Given the description of an element on the screen output the (x, y) to click on. 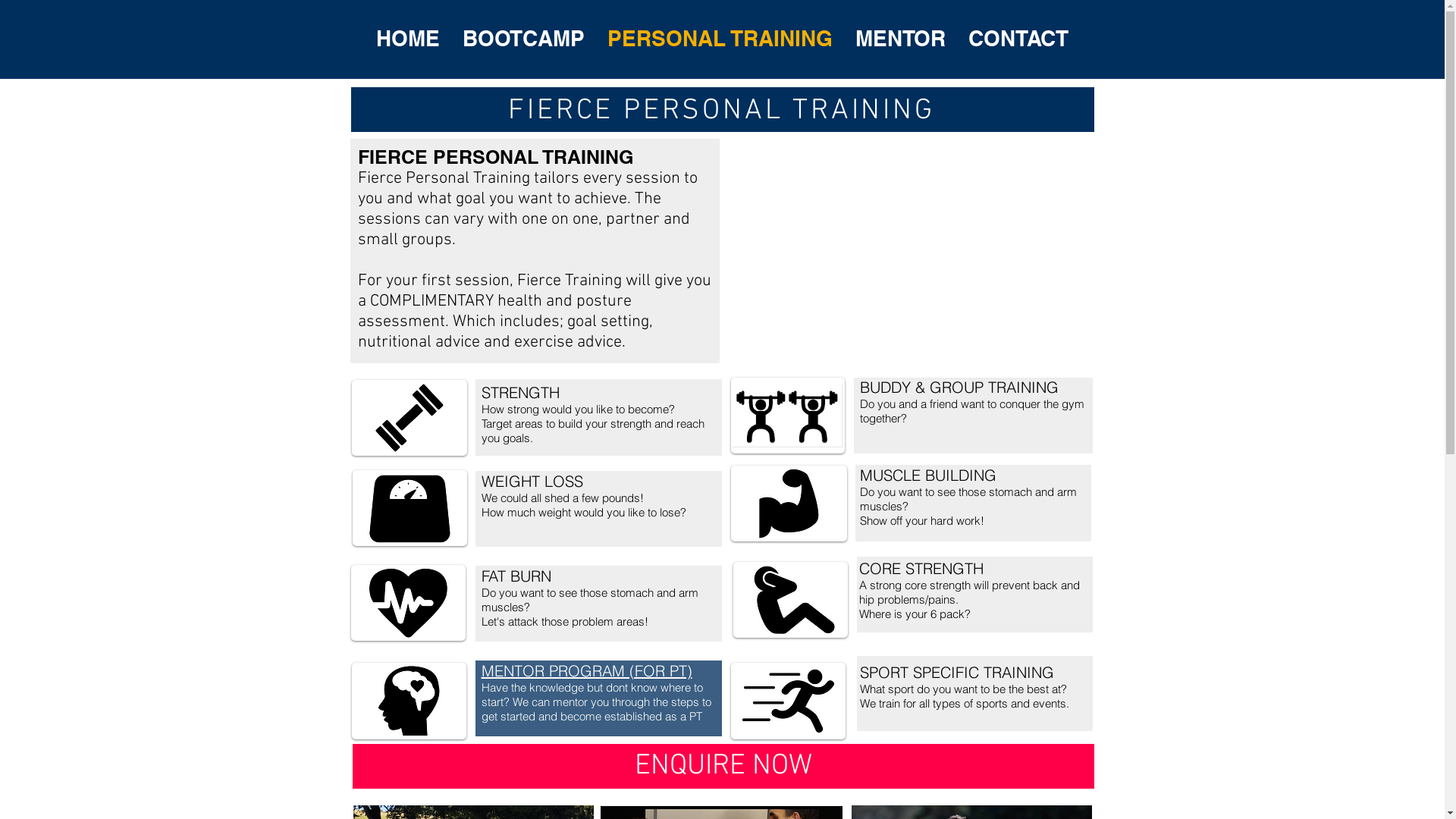
Buddy Training.png Element type: hover (787, 415)
Cardio.png Element type: hover (407, 602)
Crunch.png Element type: hover (789, 599)
Mentor.png Element type: hover (408, 700)
MENTOR PROGRAM (FOR PT) Element type: text (585, 670)
External Vimeo Element type: hover (911, 249)
CONTACT Element type: text (1018, 38)
Speed.png Element type: hover (788, 700)
BOOTCAMP Element type: text (522, 38)
Weight Loss.png Element type: hover (408, 508)
PERSONAL TRAINING Element type: text (720, 38)
ENQUIRE NOW Element type: text (722, 765)
WEIGHTS Element type: hover (409, 417)
Strength.png Element type: hover (789, 503)
HOME Element type: text (407, 38)
MENTOR Element type: text (899, 38)
